Given the description of an element on the screen output the (x, y) to click on. 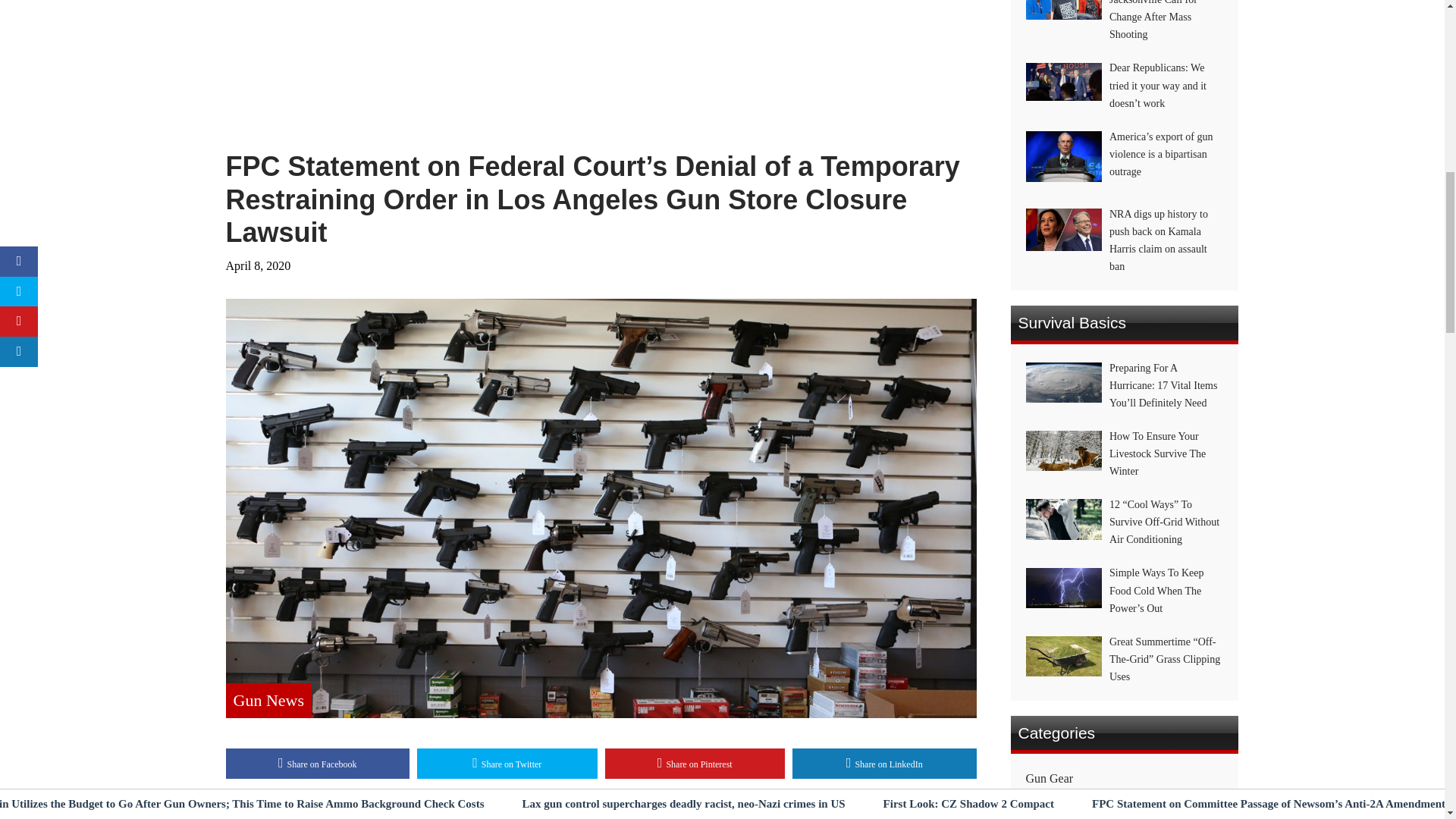
Gun News (268, 700)
